Given the description of an element on the screen output the (x, y) to click on. 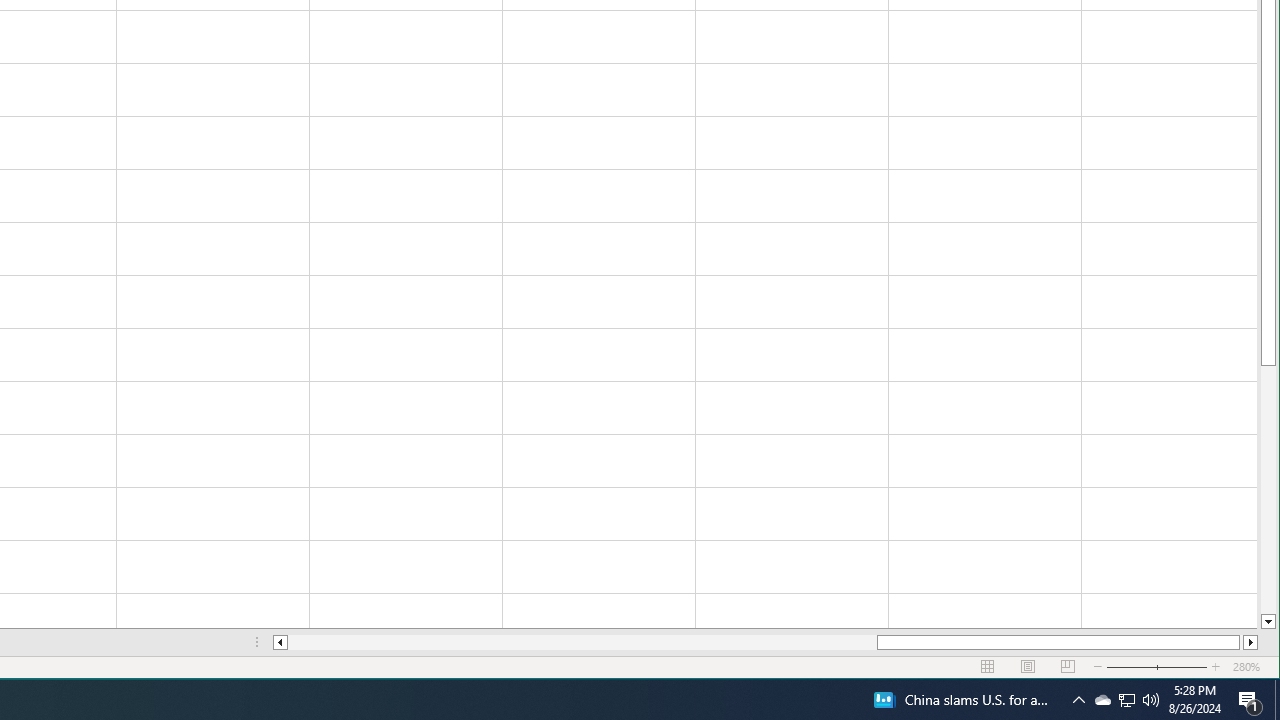
Show desktop (1277, 699)
Column left (279, 642)
Page down (1268, 489)
Notification Chevron (1078, 699)
Zoom (1157, 667)
Page left (582, 642)
Page Break Preview (1068, 667)
Zoom In (1215, 667)
Class: NetUIScrollBar (765, 642)
Zoom Out (1144, 667)
Line down (1268, 622)
Normal (987, 667)
